Given the description of an element on the screen output the (x, y) to click on. 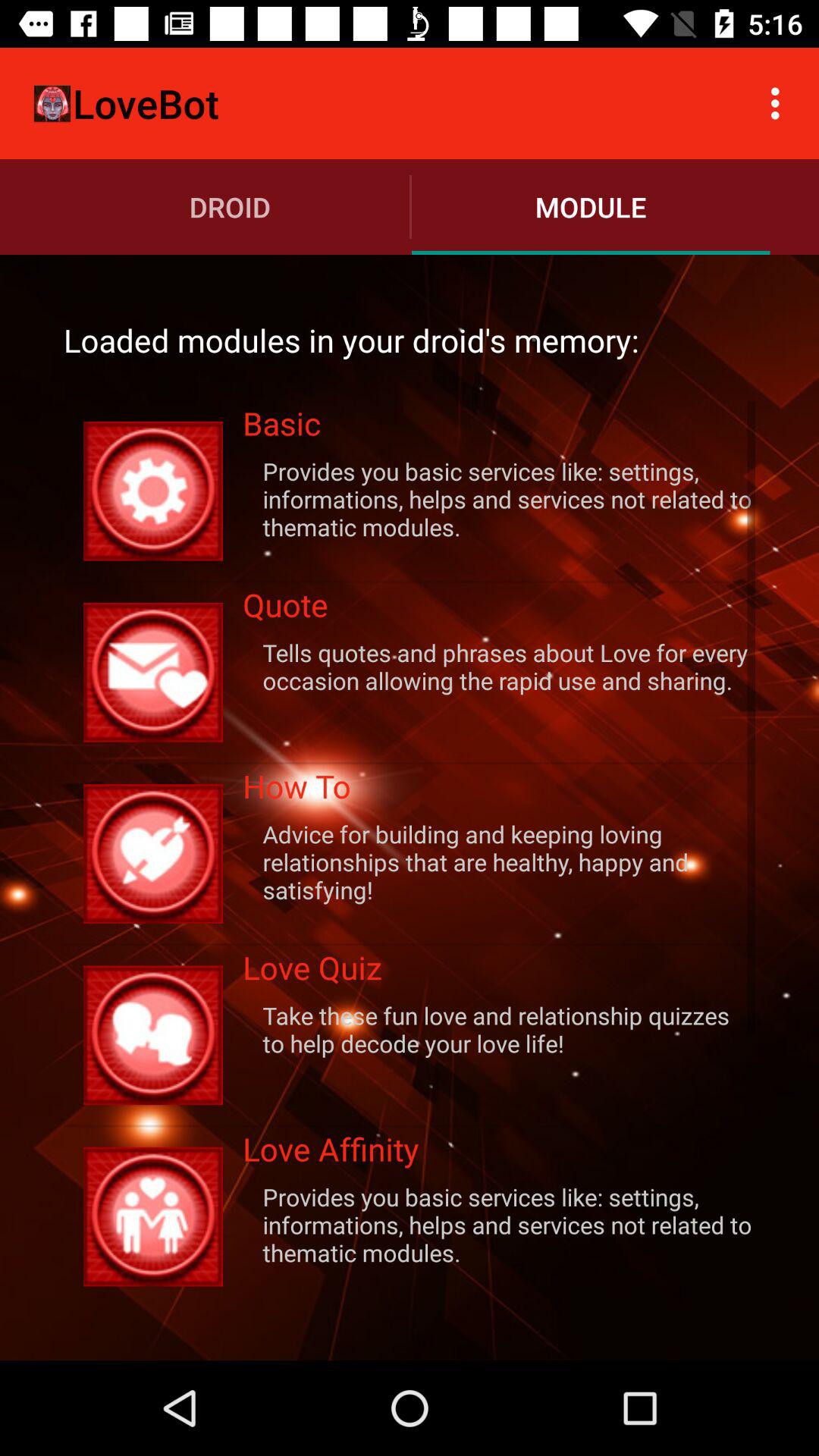
jump to how to icon (498, 790)
